Given the description of an element on the screen output the (x, y) to click on. 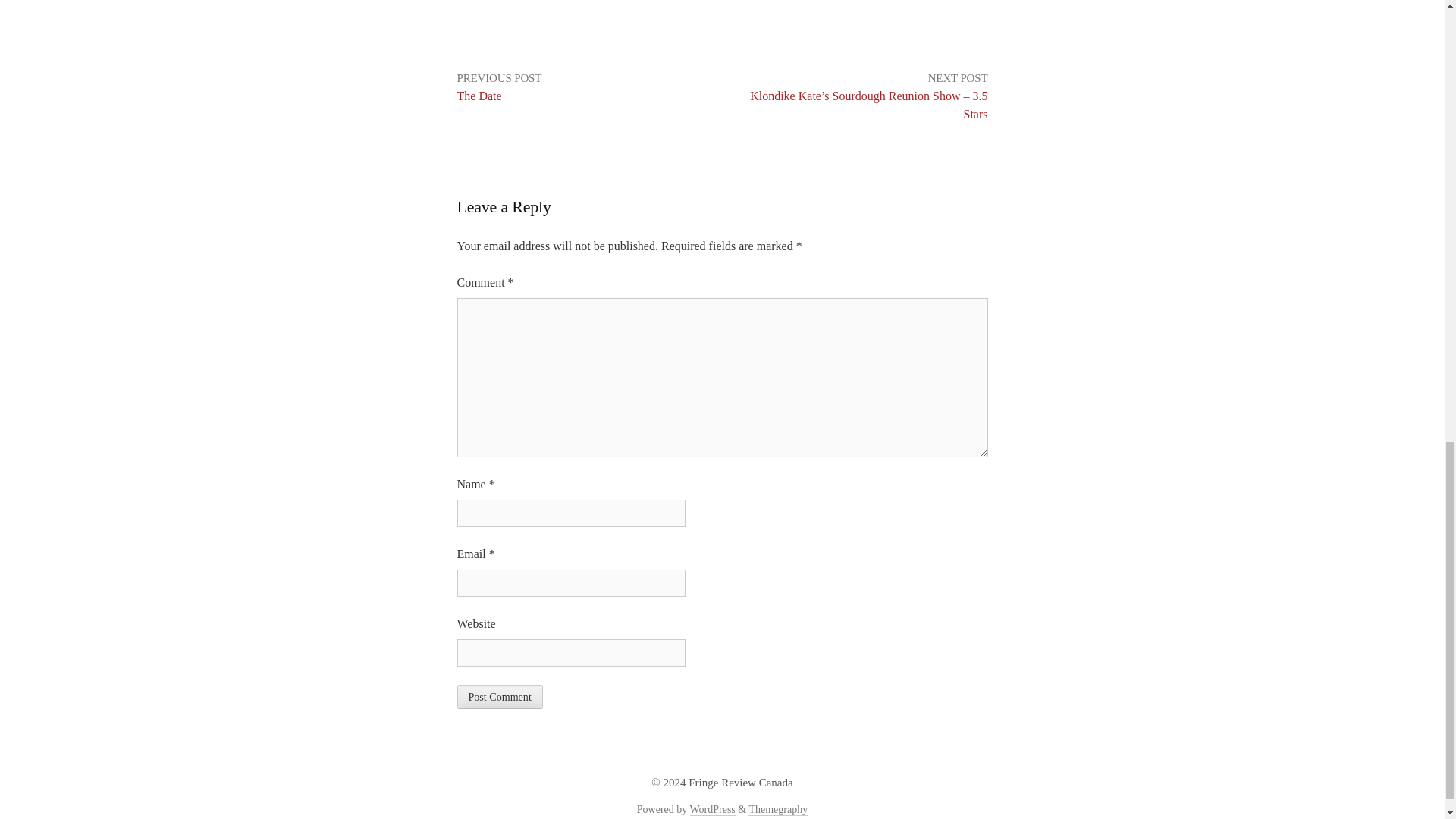
Fringe Review Canada (740, 782)
WordPress (712, 809)
Post Comment (499, 696)
The Date (478, 95)
Themegraphy (778, 809)
Post Comment (499, 696)
